Given the description of an element on the screen output the (x, y) to click on. 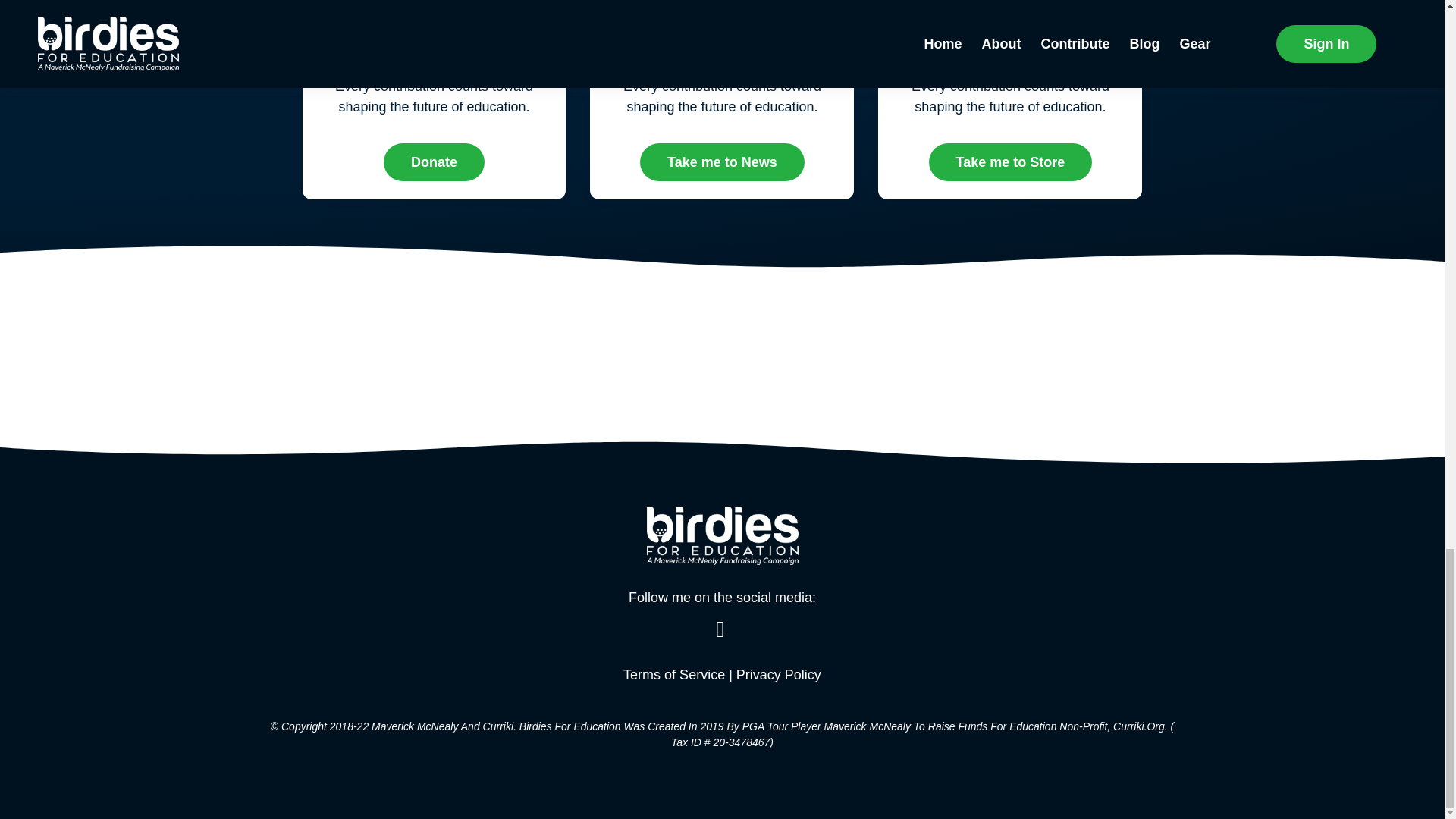
Take me to News (722, 161)
Terms of Service (674, 674)
Privacy Policy (778, 674)
Donate (434, 161)
Take me to Store (1010, 161)
